Given the description of an element on the screen output the (x, y) to click on. 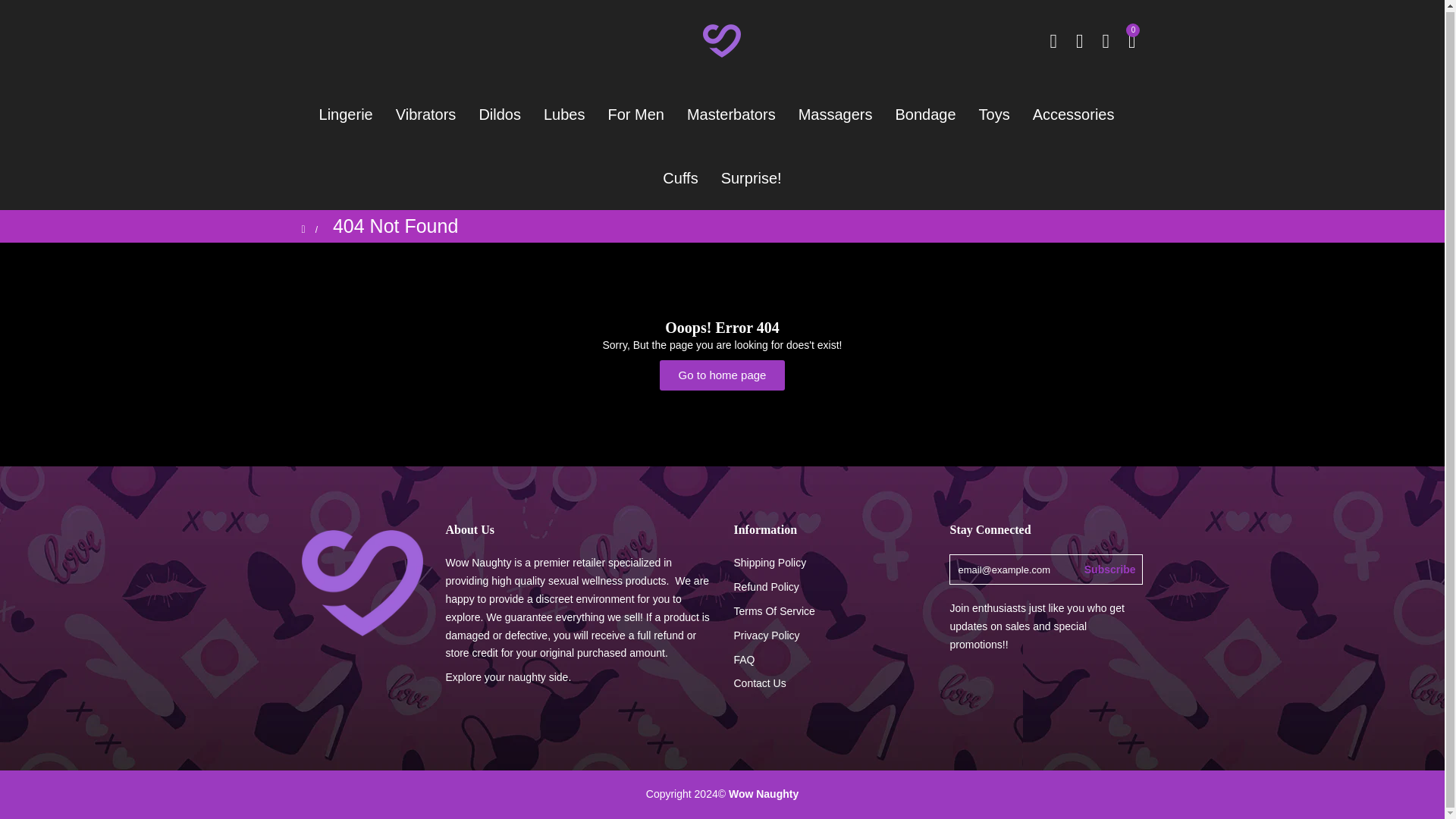
Surprise! (751, 177)
Masterbators (731, 114)
Dildos (499, 114)
Accessories (1073, 114)
Vibrators (425, 114)
Lingerie (351, 114)
Cuffs (679, 177)
Bondage (924, 114)
Lubes (564, 114)
For Men (635, 114)
